Given the description of an element on the screen output the (x, y) to click on. 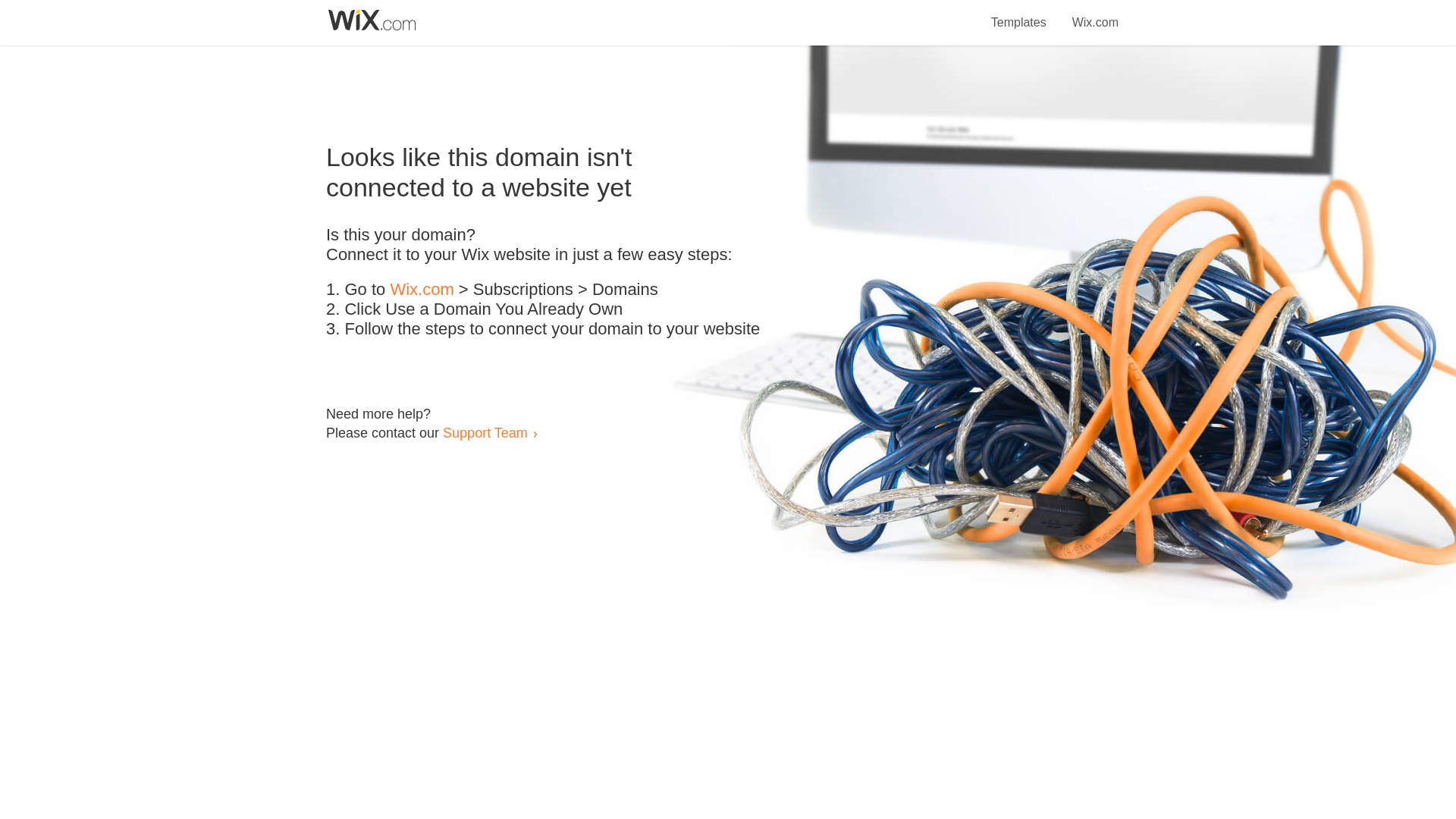
Wix.com (1095, 14)
Templates (1018, 14)
Wix.com (421, 289)
Support Team (484, 432)
